Given the description of an element on the screen output the (x, y) to click on. 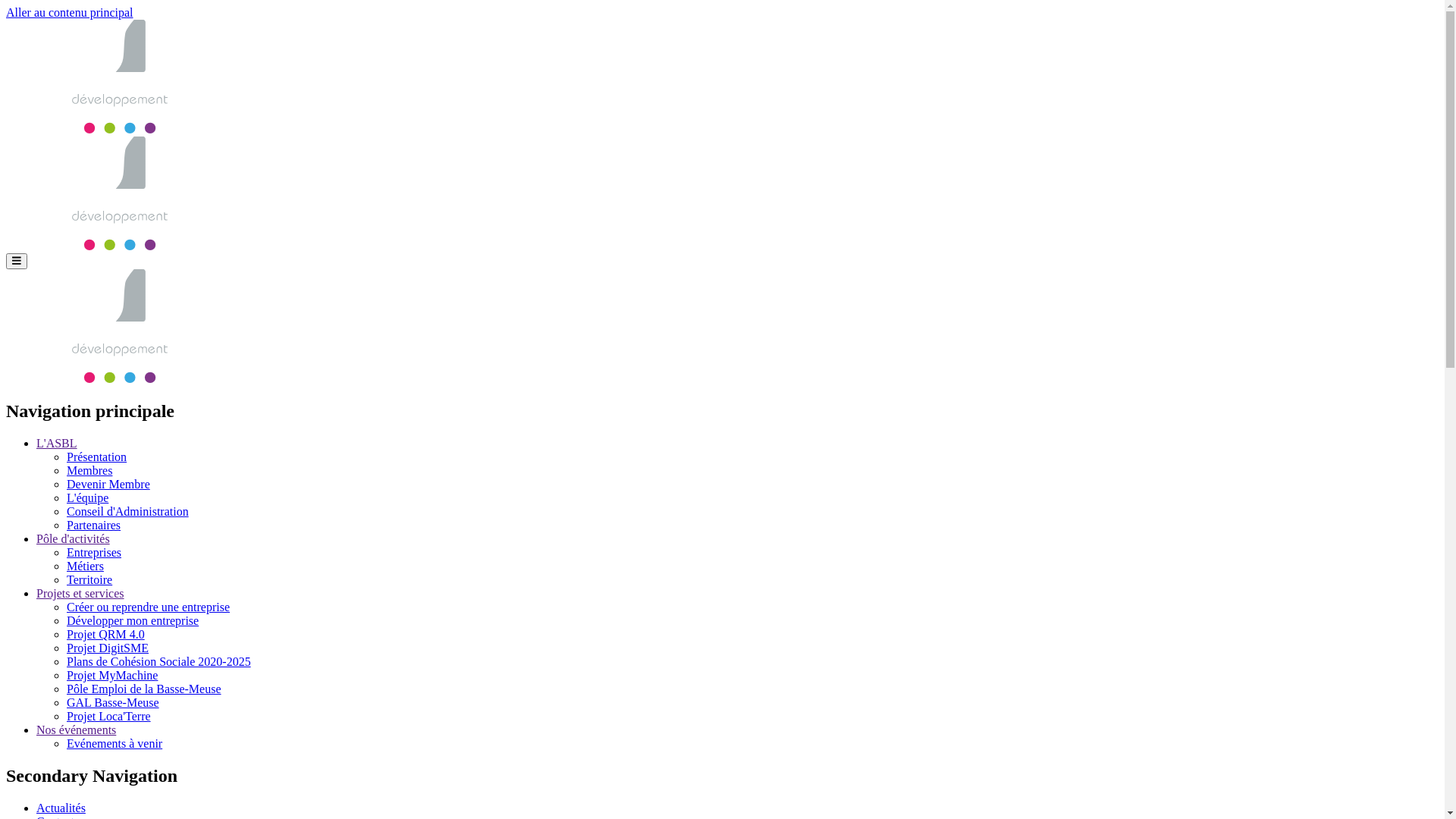
Membres Element type: text (89, 470)
Projets et services Element type: text (80, 592)
Entreprises Element type: text (93, 552)
L'ASBL Element type: text (56, 442)
Conseil d'Administration Element type: text (127, 511)
GAL Basse-Meuse Element type: text (112, 702)
Projet Loca'Terre Element type: text (108, 715)
Projet DigitSME Element type: text (107, 647)
Partenaires Element type: text (93, 524)
Projet MyMachine Element type: text (111, 674)
Territoire Element type: text (89, 579)
Menu Element type: text (16, 261)
Projet QRM 4.0 Element type: text (105, 633)
Aller au contenu principal Element type: text (69, 12)
Devenir Membre Element type: text (108, 483)
